Given the description of an element on the screen output the (x, y) to click on. 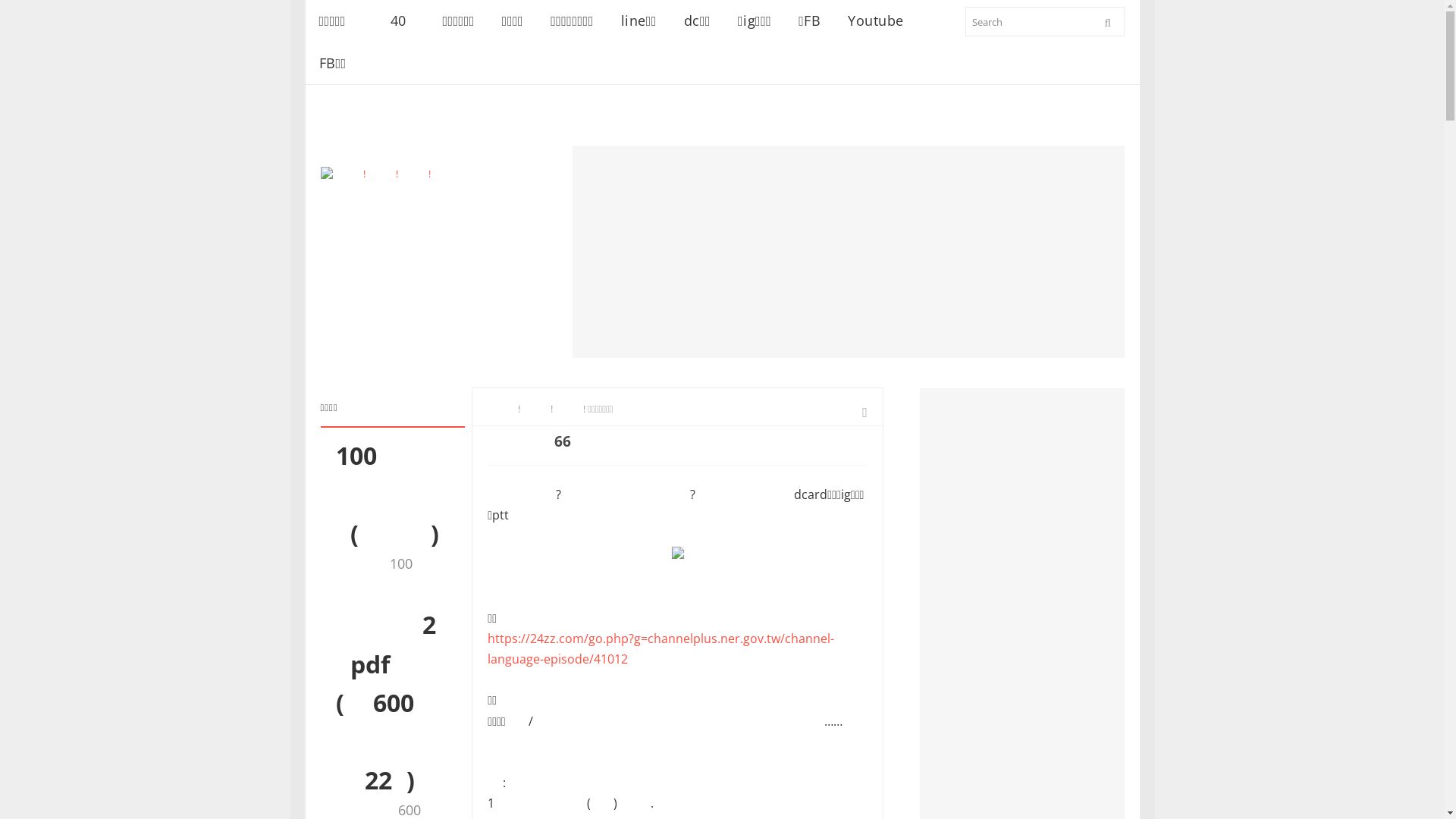
Advertisement Element type: hover (847, 251)
Youtube Element type: text (875, 21)
